Given the description of an element on the screen output the (x, y) to click on. 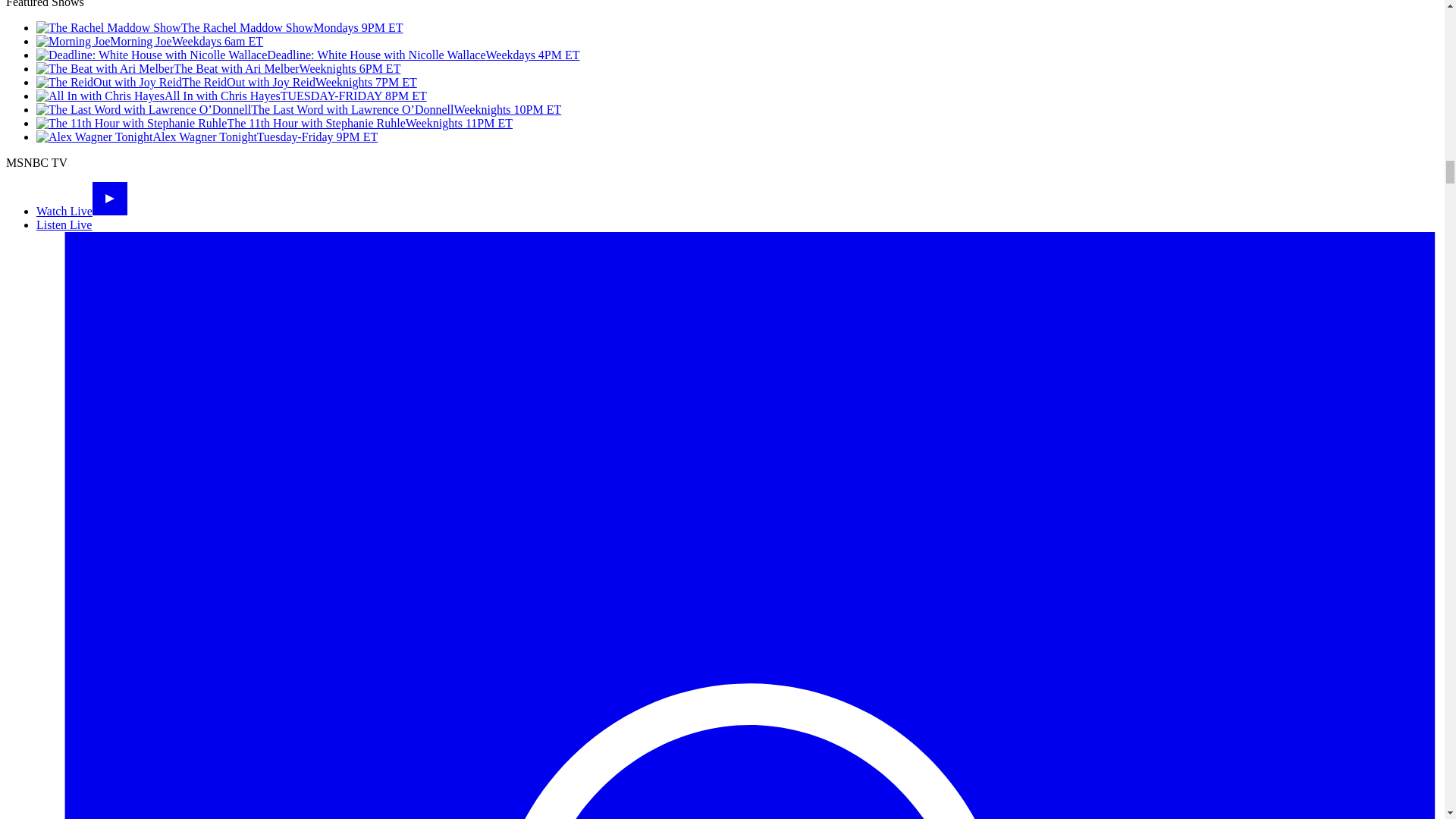
Deadline: White House with Nicolle WallaceWeekdays 4PM ET (307, 54)
The ReidOut with Joy ReidWeeknights 7PM ET (226, 82)
All In with Chris HayesTUESDAY-FRIDAY 8PM ET (231, 95)
The Rachel Maddow ShowMondays 9PM ET (219, 27)
The 11th Hour with Stephanie RuhleWeeknights 11PM ET (274, 123)
Alex Wagner TonightTuesday-Friday 9PM ET (206, 136)
Morning JoeWeekdays 6am ET (149, 41)
Watch Live (82, 210)
The Beat with Ari MelberWeeknights 6PM ET (218, 68)
